Given the description of an element on the screen output the (x, y) to click on. 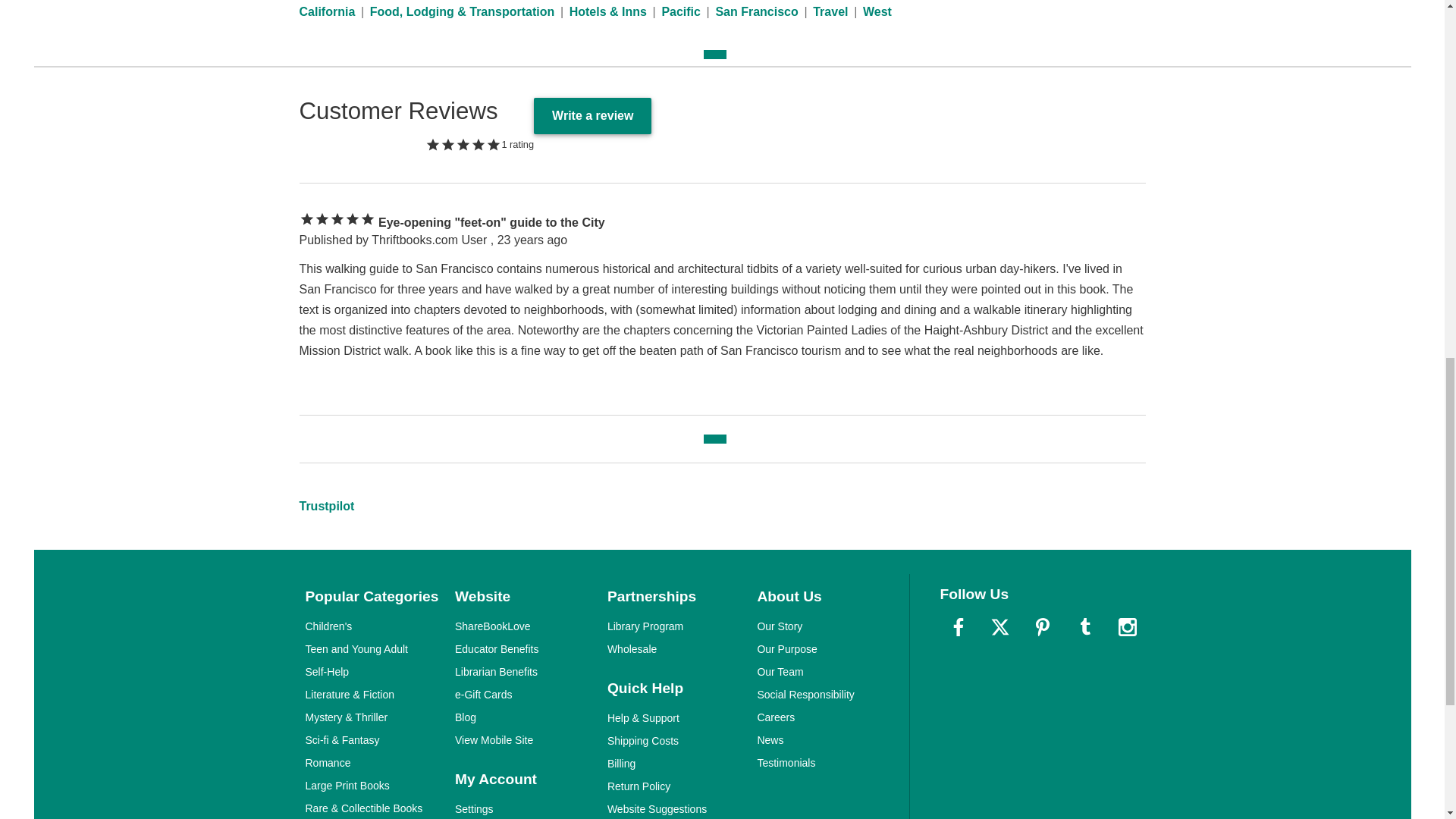
Follow us on Tumblr (1085, 627)
Like us on Facebook (958, 627)
Follow us on Twitter (999, 627)
Follow us on Instagram (1126, 627)
Follow us on Pinterest (1043, 627)
